Given the description of an element on the screen output the (x, y) to click on. 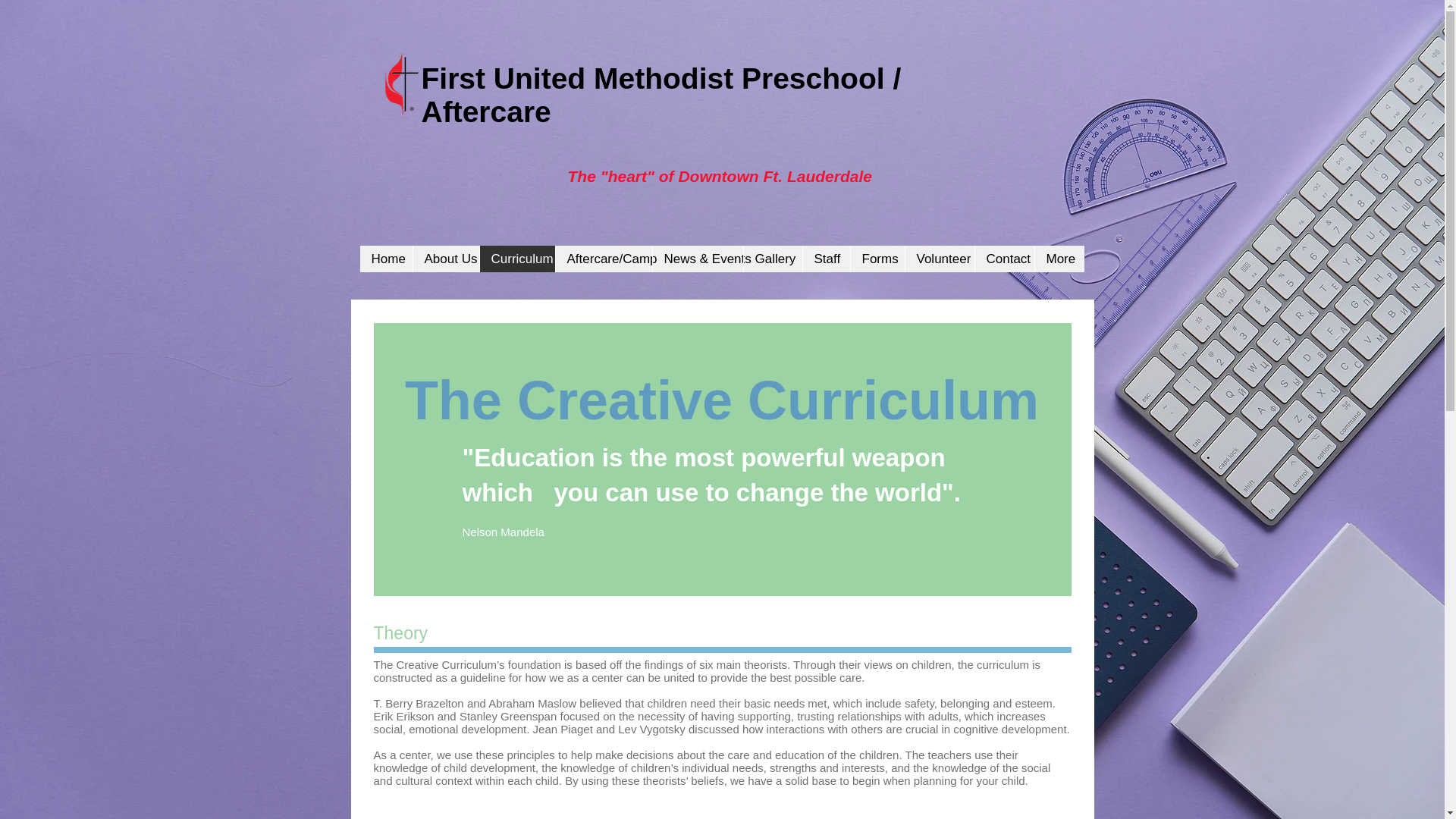
Home (385, 258)
Forms (876, 258)
About Us (445, 258)
Gallery (772, 258)
Contact (1003, 258)
Curriculum (516, 258)
Volunteer (939, 258)
Staff (826, 258)
